Given the description of an element on the screen output the (x, y) to click on. 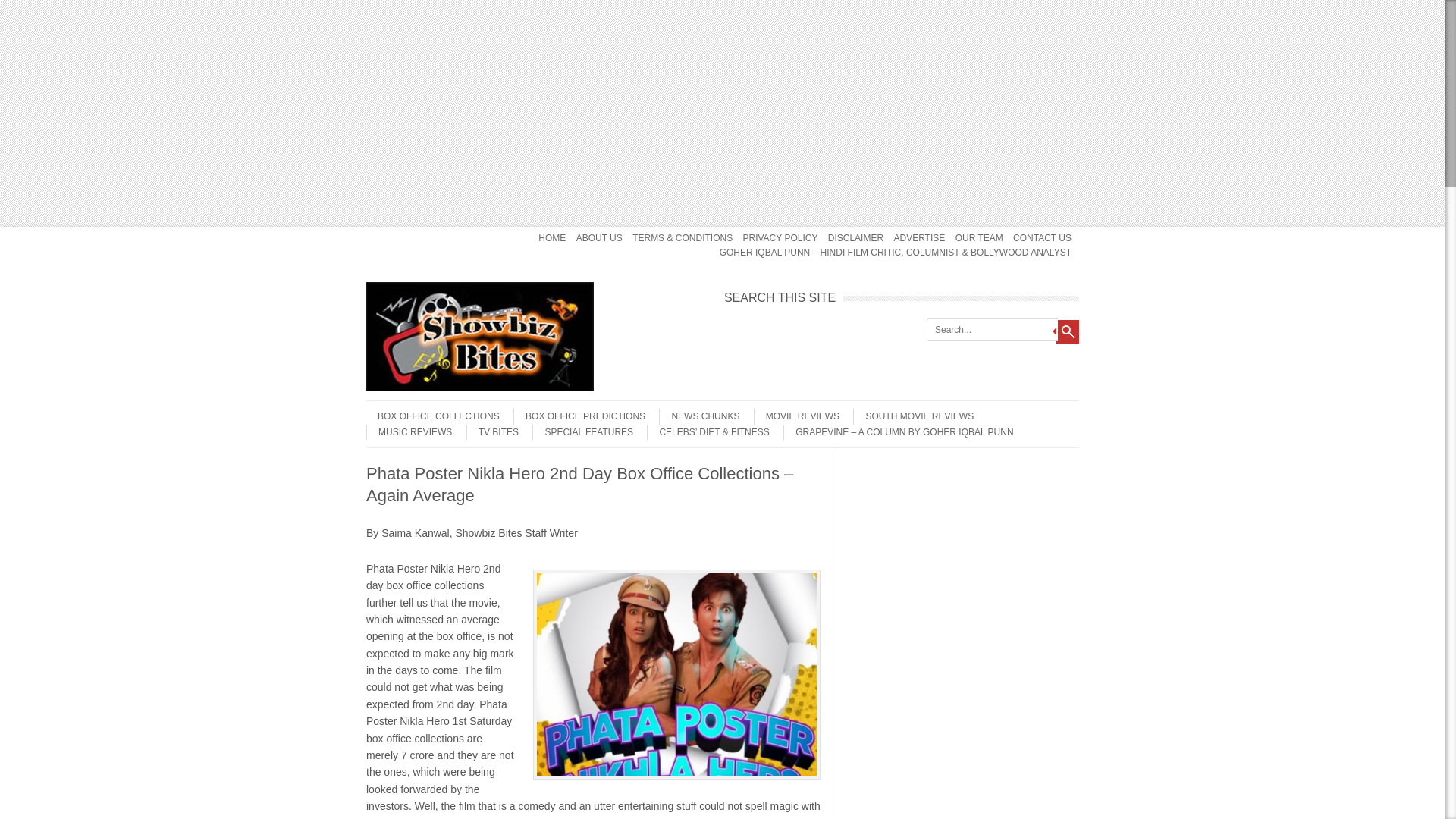
Skip to content (396, 231)
SPECIAL FEATURES (582, 432)
CONTACT US (1042, 237)
Showbiz Bites (480, 387)
NEWS CHUNKS (699, 416)
OUR TEAM (979, 237)
MOVIE REVIEWS (797, 416)
HOME (552, 237)
PRIVACY POLICY (779, 237)
TV BITES (491, 432)
ABOUT US (599, 237)
Skip to content (396, 405)
ADVERTISE (918, 237)
BOX OFFICE COLLECTIONS (432, 416)
